Given the description of an element on the screen output the (x, y) to click on. 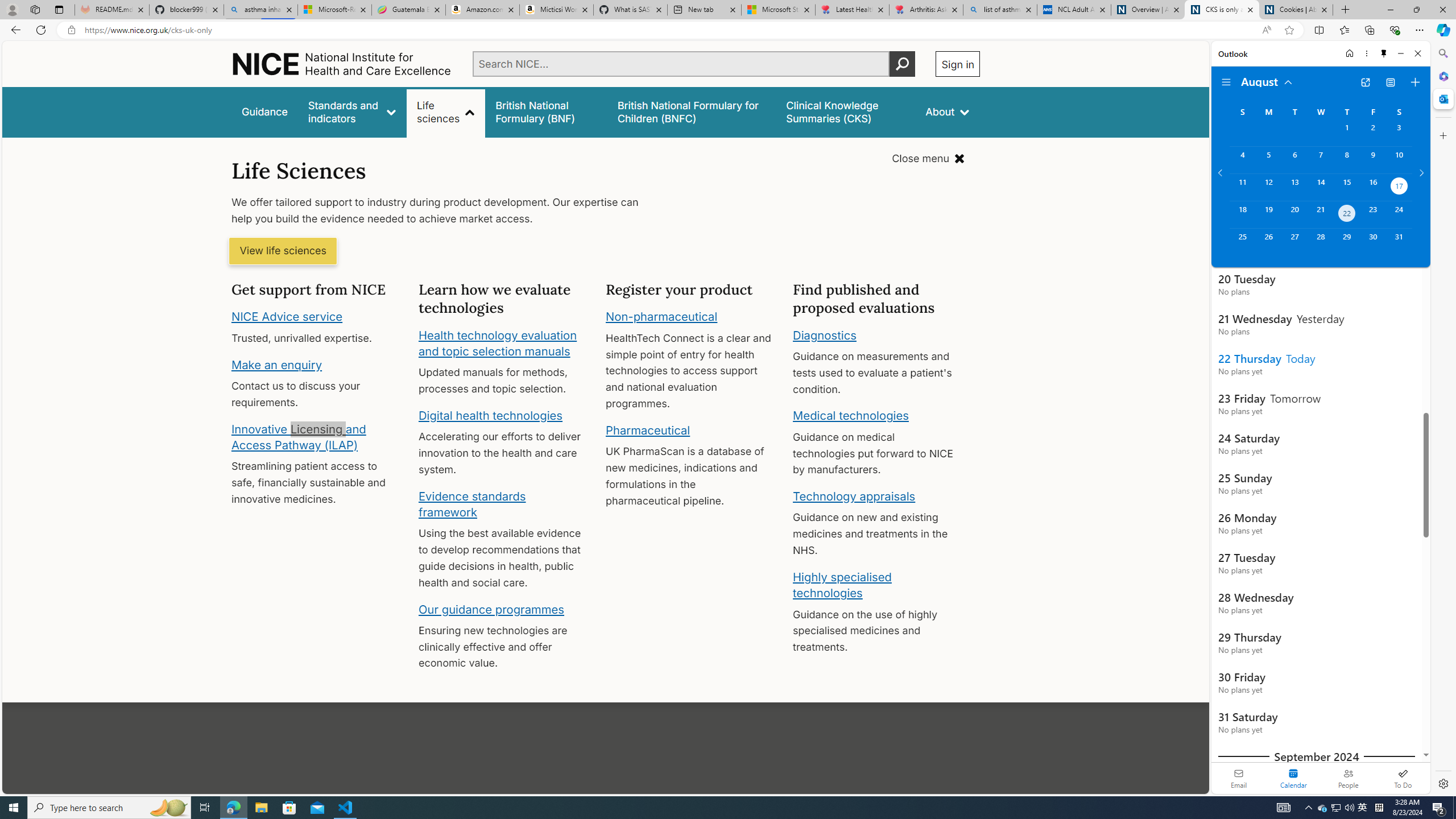
Open in new tab (1365, 82)
Saturday, August 17, 2024. Date selected.  (1399, 186)
Saturday, August 10, 2024.  (1399, 159)
About (947, 111)
Friday, August 2, 2024.  (1372, 132)
Innovative Licensing and Access Pathway (ILAP) (298, 436)
Monday, August 12, 2024.  (1268, 186)
Evidence standards framework (471, 503)
Thursday, August 15, 2024.  (1346, 186)
Guidance (264, 111)
